Given the description of an element on the screen output the (x, y) to click on. 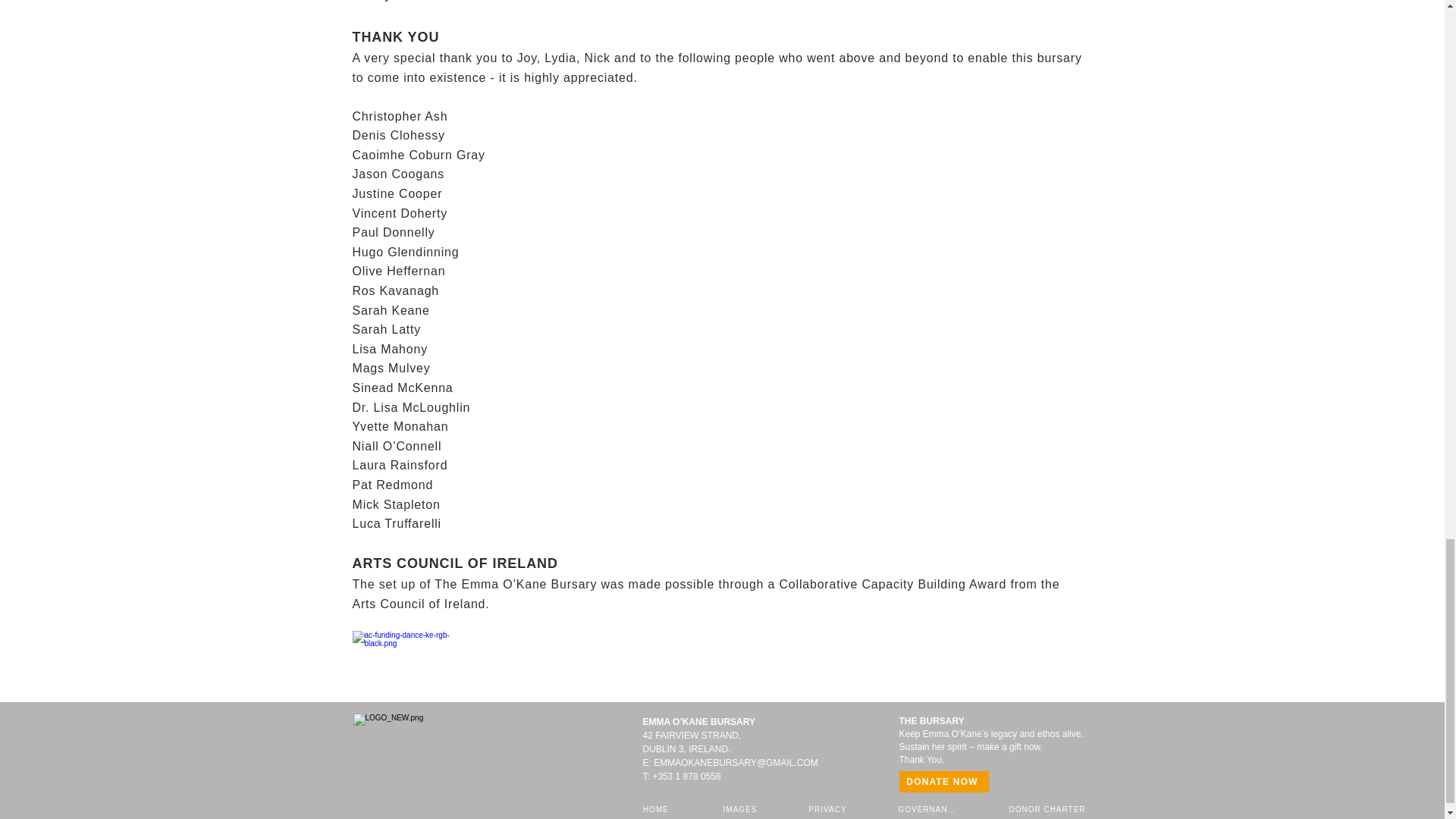
DONOR CHARTER (1049, 808)
HOME (657, 808)
DONATE NOW (943, 781)
PRIVACY (828, 808)
GOVERNANCE (929, 808)
IMAGES (741, 808)
Emma O'Kane Bursary (437, 752)
